Given the description of an element on the screen output the (x, y) to click on. 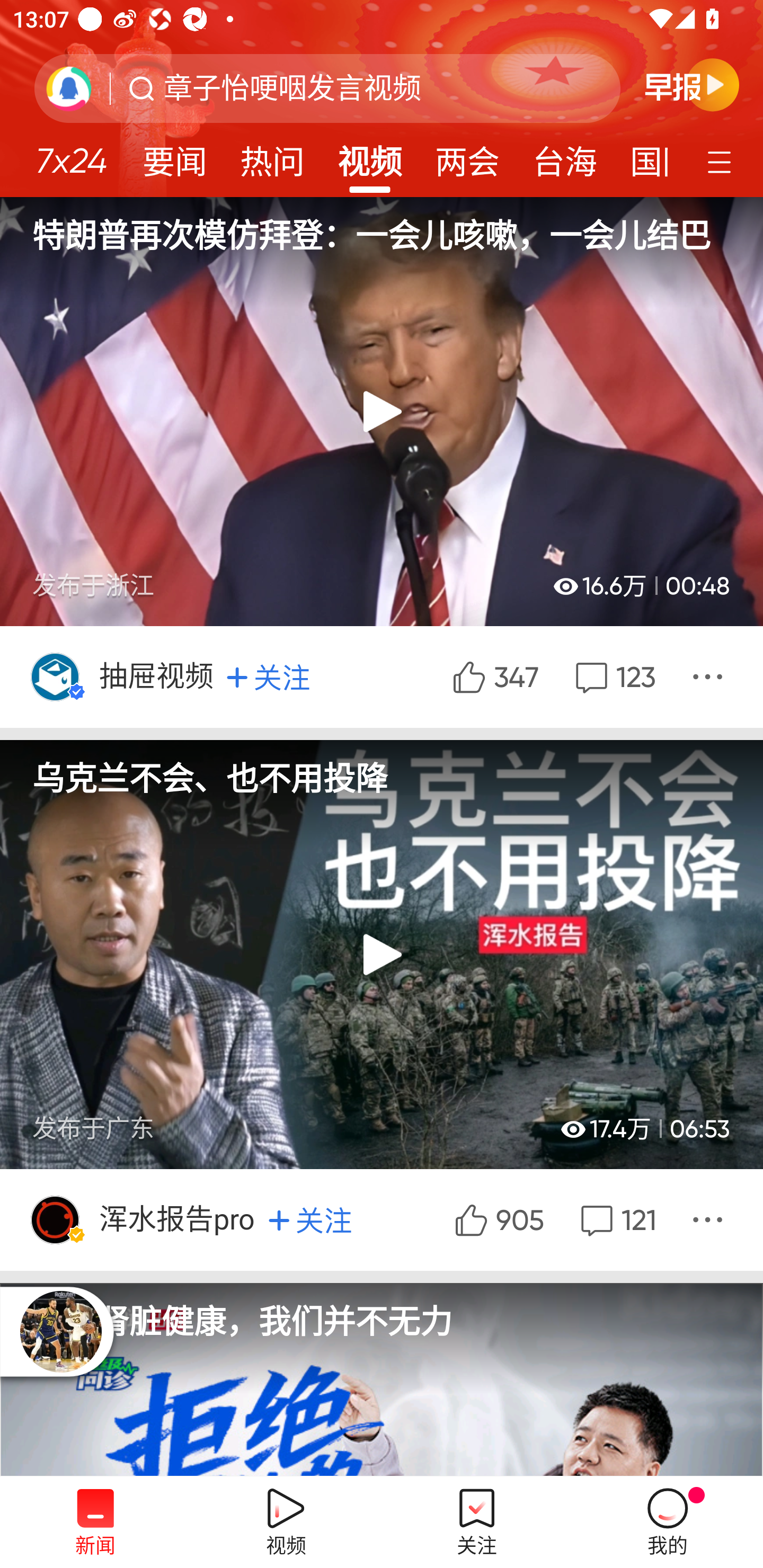
早晚报 (691, 84)
刷新 (68, 88)
章子怡哽咽发言视频 (292, 88)
7x24 (70, 154)
要闻 (174, 155)
热问 (272, 155)
视频 (369, 155)
两会 (466, 155)
台海 (564, 155)
 定制频道 (721, 160)
播放,特朗普再次模仿拜登：一会儿咳嗽，一会儿结巴 发布于浙江  16.6万 00:48 (381, 411)
特朗普再次模仿拜登：一会儿咳嗽，一会儿结巴 (381, 226)
347赞 (493, 676)
评论  123 (613, 676)
分享  (709, 676)
抽屉视频 (157, 676)
关注 (268, 677)
播放,乌克兰不会、也不用投降 发布于广东  17.4万 06:53 (381, 954)
乌克兰不会、也不用投降 (381, 769)
905赞 (497, 1219)
评论  121 (616, 1219)
分享  (709, 1219)
浑水报告pro (178, 1219)
关注 (309, 1219)
播放器 (60, 1331)
